Given the description of an element on the screen output the (x, y) to click on. 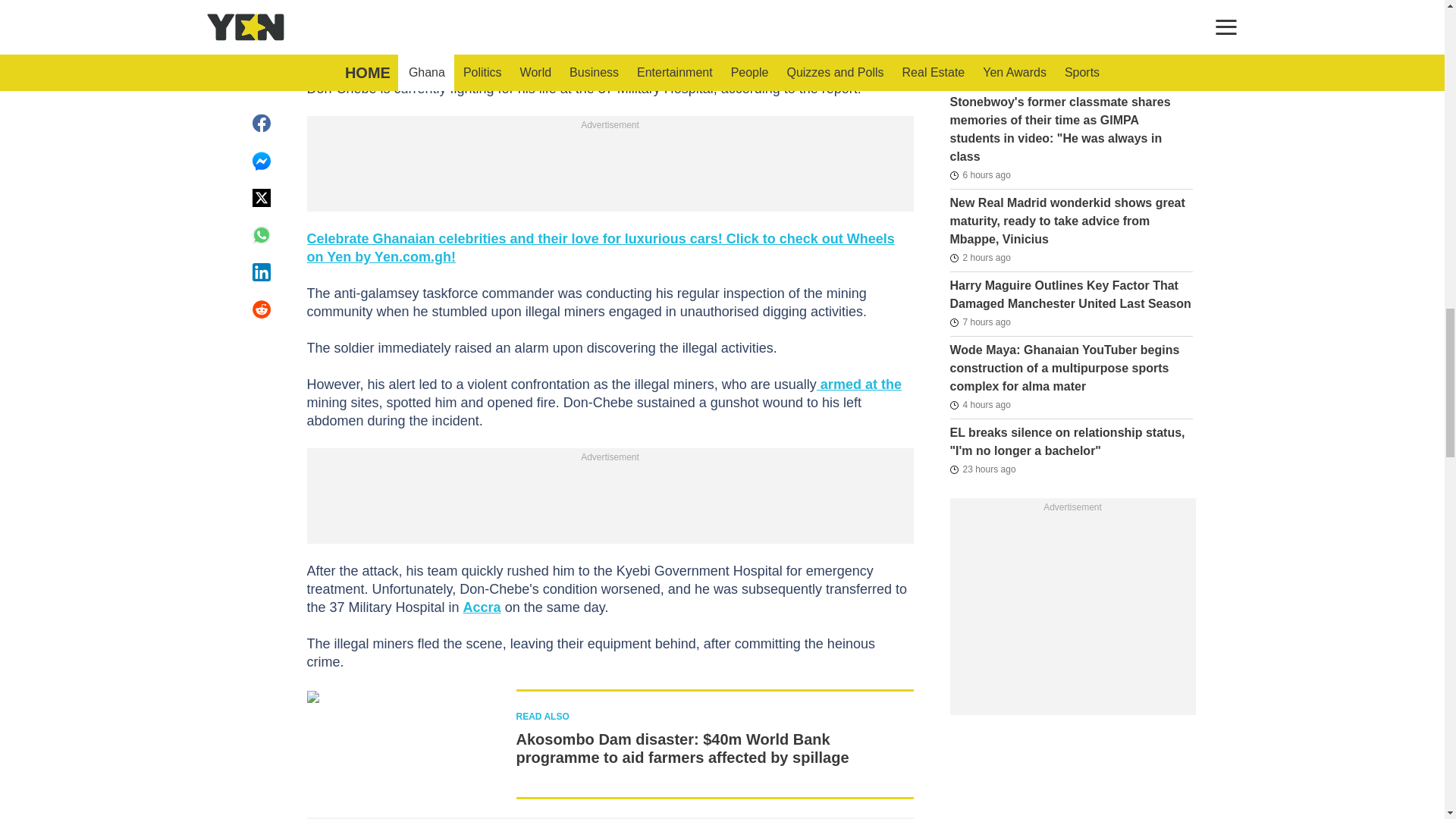
2024-07-27T18:56:00Z (979, 257)
2024-06-07T14:38:34Z (981, 29)
2024-07-27T16:09:42Z (979, 404)
2024-07-26T22:02:10Z (981, 469)
2024-07-27T14:45:36Z (979, 175)
2024-07-27T13:56:51Z (979, 321)
